Given the description of an element on the screen output the (x, y) to click on. 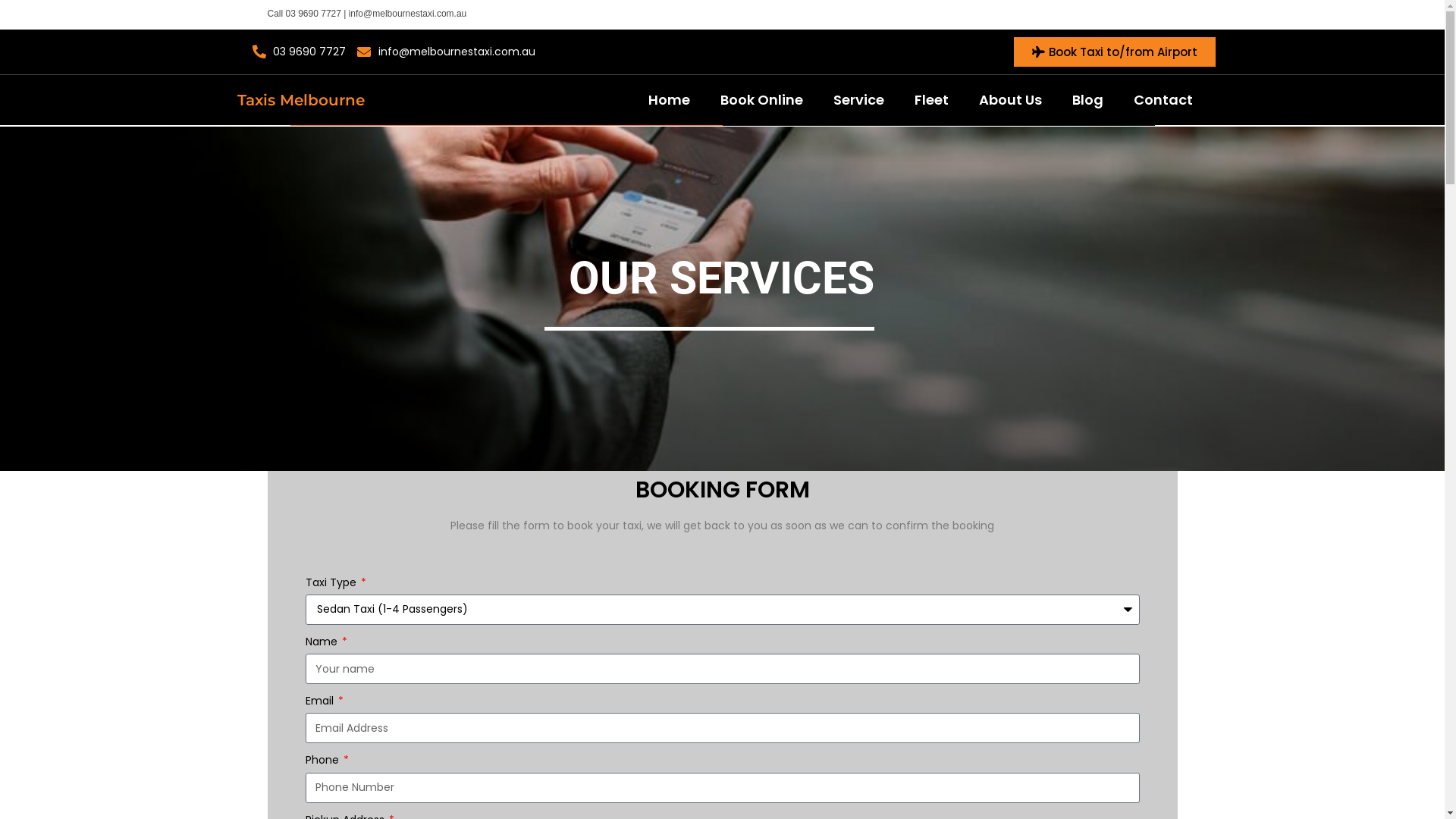
Book Online Element type: text (761, 99)
Book Taxi to/from Airport Element type: text (1113, 51)
info@melbournestaxi.com.au Element type: text (446, 51)
Blog Element type: text (1087, 99)
Contact Element type: text (1162, 99)
Taxis Melbourne Element type: text (300, 100)
About Us Element type: text (1009, 99)
Home Element type: text (668, 99)
Service Element type: text (857, 99)
03 9690 7727 Element type: text (298, 51)
Fleet Element type: text (931, 99)
